Given the description of an element on the screen output the (x, y) to click on. 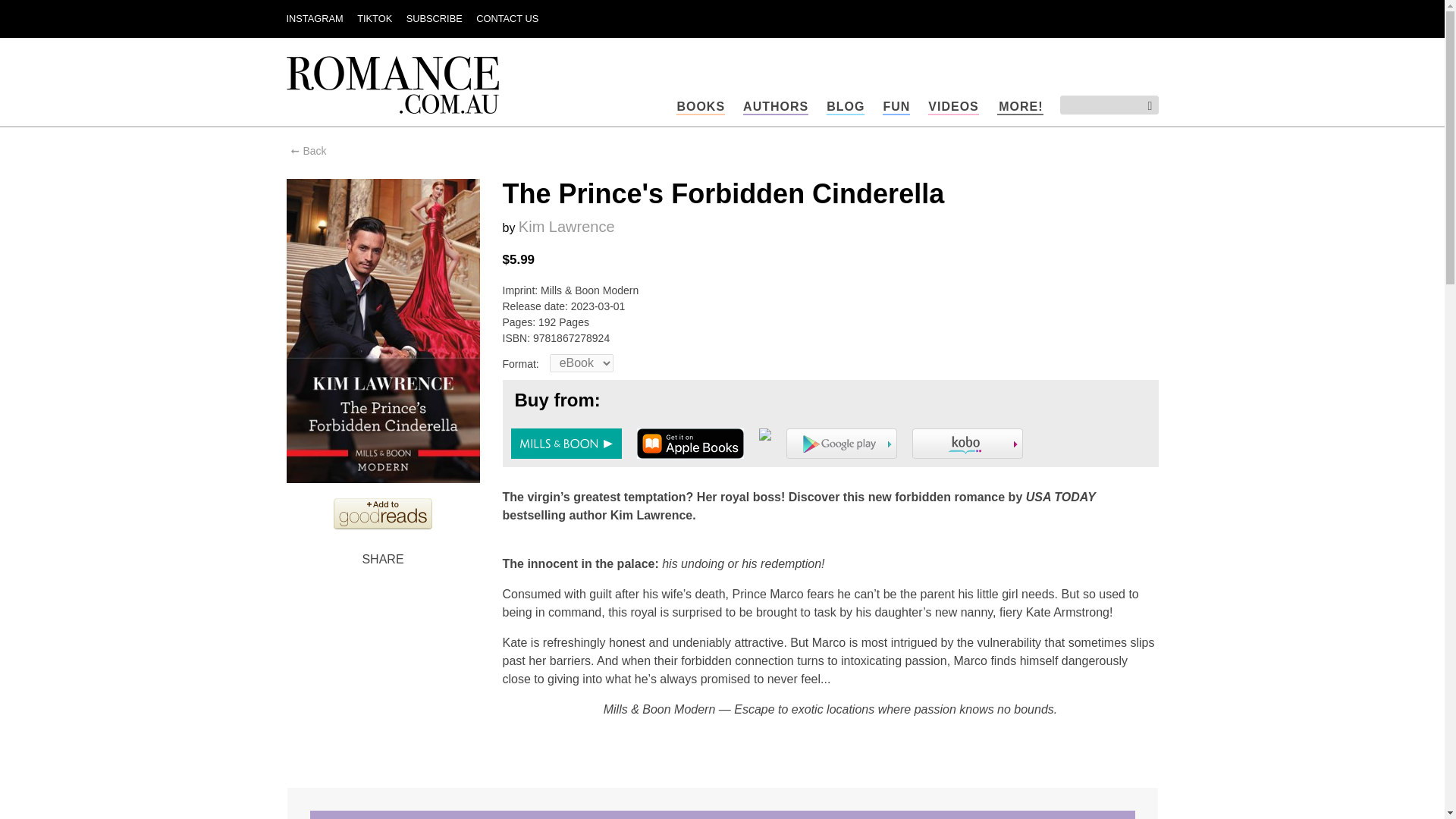
MORE! (1020, 107)
BLOG (845, 107)
Search (1144, 106)
TIKTOK (373, 18)
Search (1144, 106)
BOOKS (701, 107)
INSTAGRAM (314, 18)
CONTACT US (507, 18)
FUN (896, 107)
VIDEOS (953, 107)
AUTHORS (775, 107)
SUBSCRIBE (434, 18)
